Given the description of an element on the screen output the (x, y) to click on. 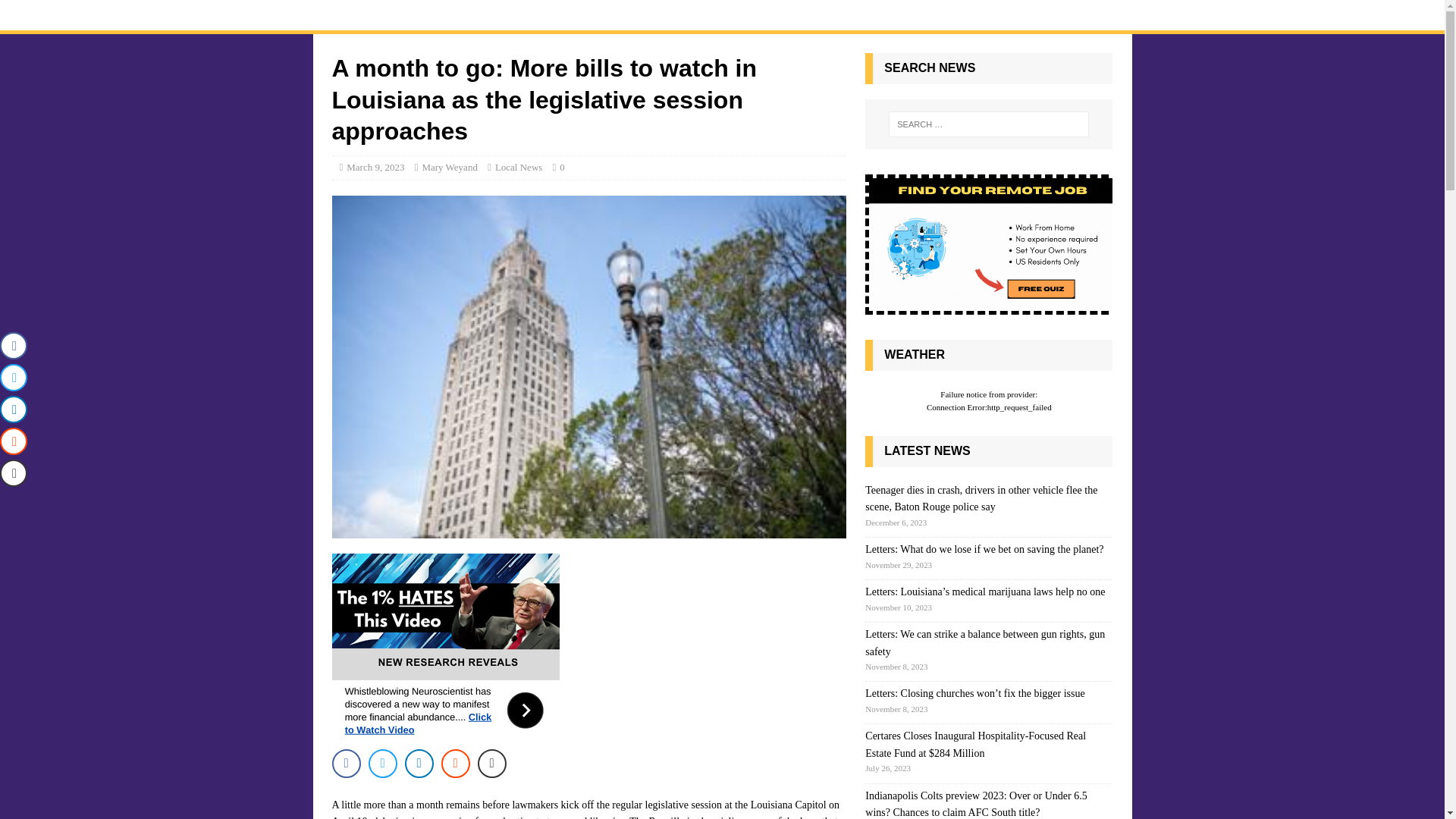
Mary Weyand (449, 166)
March 9, 2023 (375, 166)
Search (56, 11)
Letters: What do we lose if we bet on saving the planet? (983, 549)
Local News (518, 166)
